Given the description of an element on the screen output the (x, y) to click on. 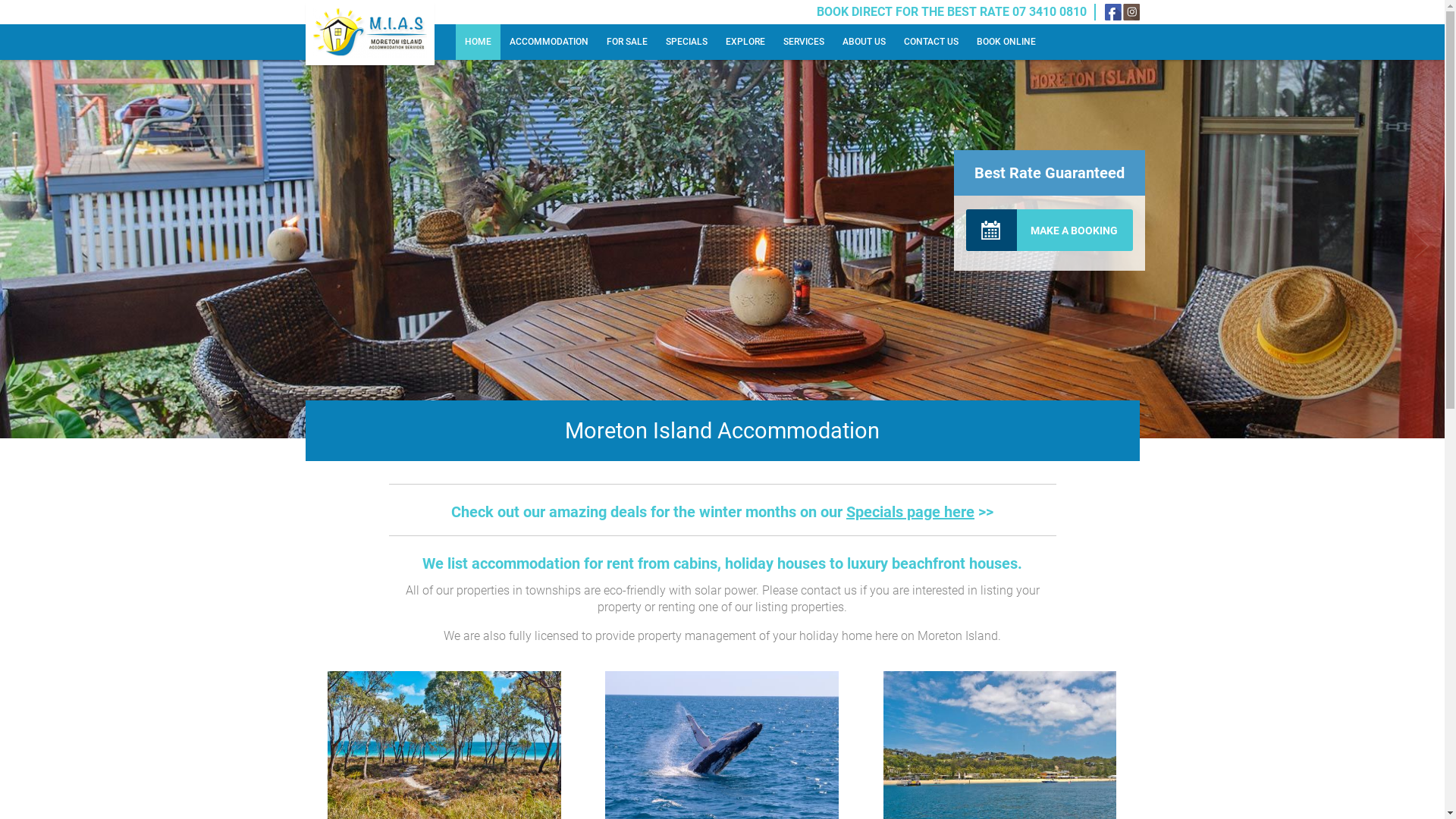
Moreton Island Accommodation Services Element type: hover (368, 32)
ACCOMMODATION Element type: text (548, 41)
SPECIALS Element type: text (686, 41)
EXPLORE Element type: text (744, 41)
BOOK ONLINE Element type: text (1005, 41)
BOOK DIRECT FOR THE BEST RATE 07 3410 0810 Element type: text (950, 11)
Instagram Element type: text (1130, 11)
MAKE A BOOKING Element type: text (1049, 230)
CONTACT US Element type: text (930, 41)
FOR SALE Element type: text (626, 41)
SERVICES Element type: text (802, 41)
HOME Element type: text (477, 41)
Facebook Element type: text (1112, 11)
Specials page here Element type: text (910, 511)
ABOUT US Element type: text (862, 41)
